Given the description of an element on the screen output the (x, y) to click on. 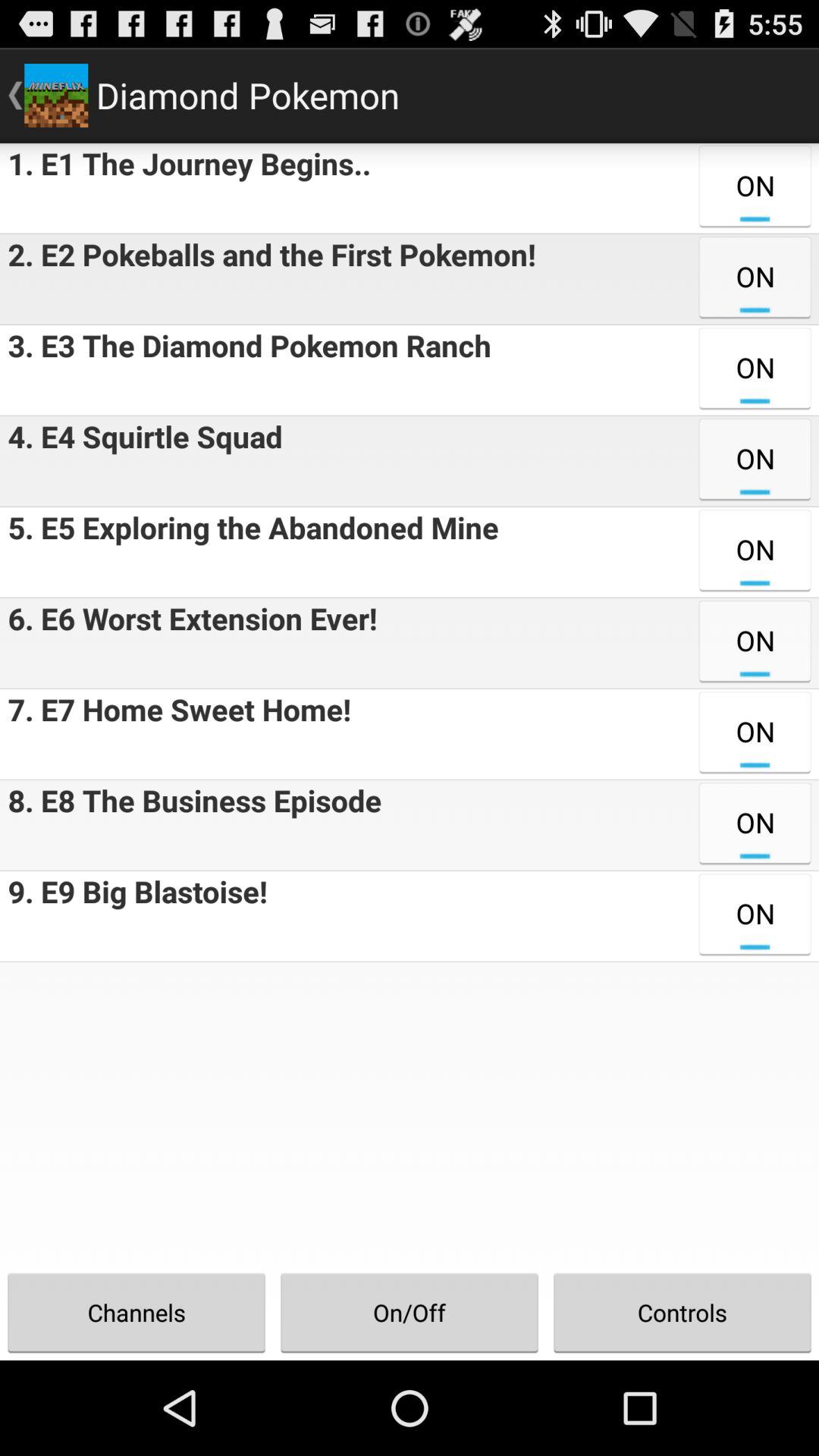
launch 2 e2 pokeballs item (267, 279)
